Given the description of an element on the screen output the (x, y) to click on. 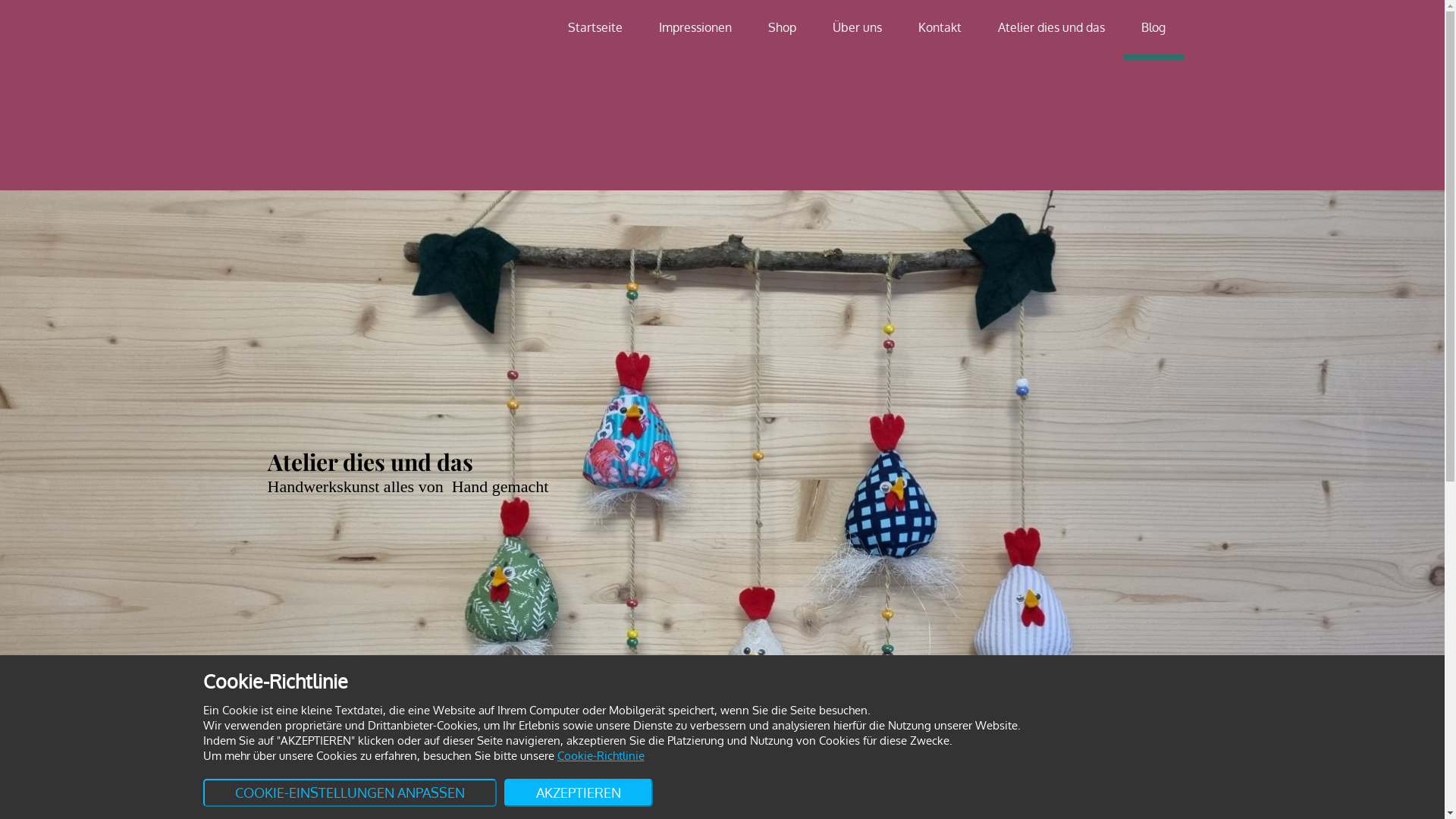
Atelier dies und das Element type: text (1051, 27)
Impressionen Element type: text (694, 27)
Startseite Element type: text (594, 27)
Kontakt Element type: text (938, 27)
Cookie-Richtlinie Element type: text (599, 755)
COOKIE-EINSTELLUNGEN ANPASSEN Element type: text (349, 792)
Blog Element type: text (1152, 27)
Shop Element type: text (781, 27)
AKZEPTIEREN Element type: text (577, 792)
          Element type: text (334, 94)
